Given the description of an element on the screen output the (x, y) to click on. 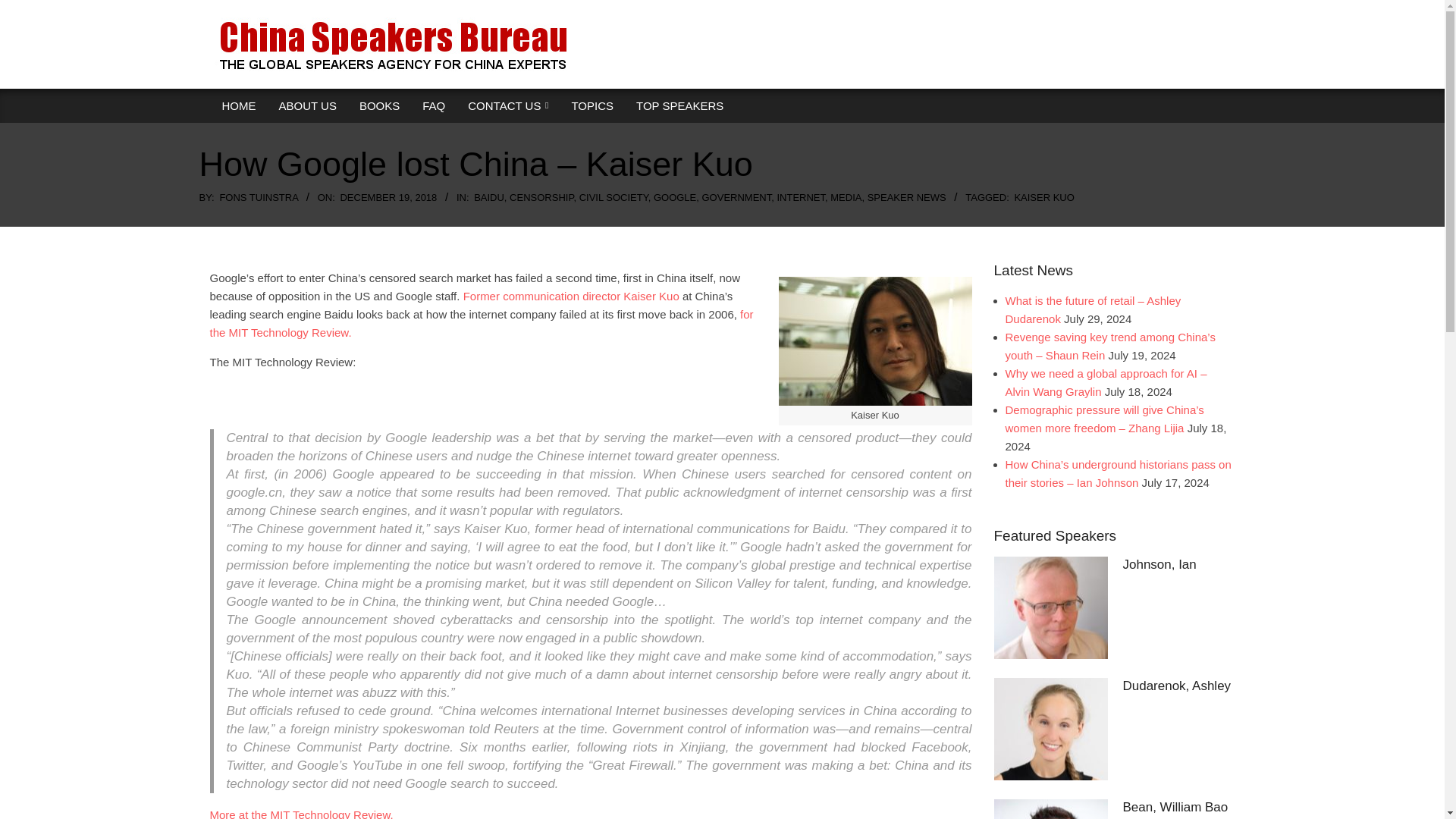
TOPICS (591, 105)
GOVERNMENT (736, 197)
CIVIL SOCIETY (613, 197)
CENSORSHIP (541, 197)
More at the MIT Technology Review. (301, 813)
Wednesday, December 19, 2018, 11:47 am (387, 197)
TOP SPEAKERS (679, 105)
GOOGLE (674, 197)
Posts by Fons Tuinstra (258, 197)
for the MIT Technology Review. (480, 323)
